Given the description of an element on the screen output the (x, y) to click on. 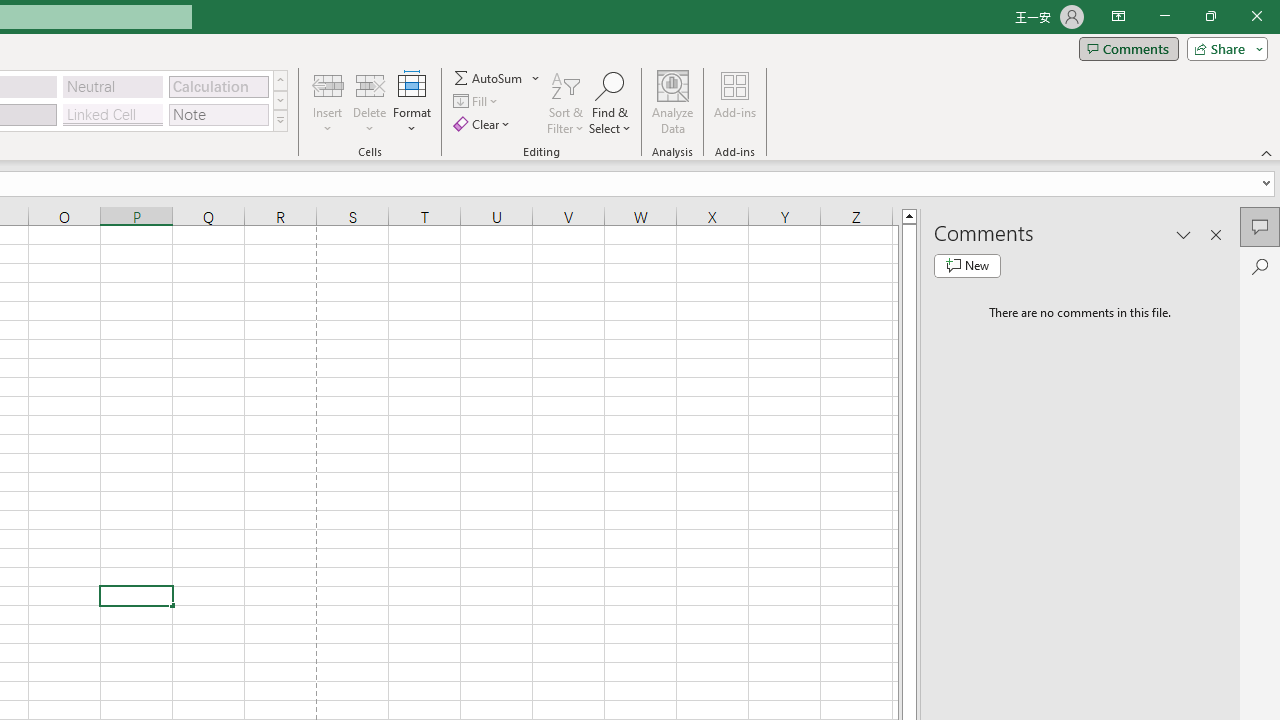
Delete (369, 102)
Neutral (113, 86)
Calculation (218, 86)
Format (411, 102)
AutoSum (497, 78)
